Given the description of an element on the screen output the (x, y) to click on. 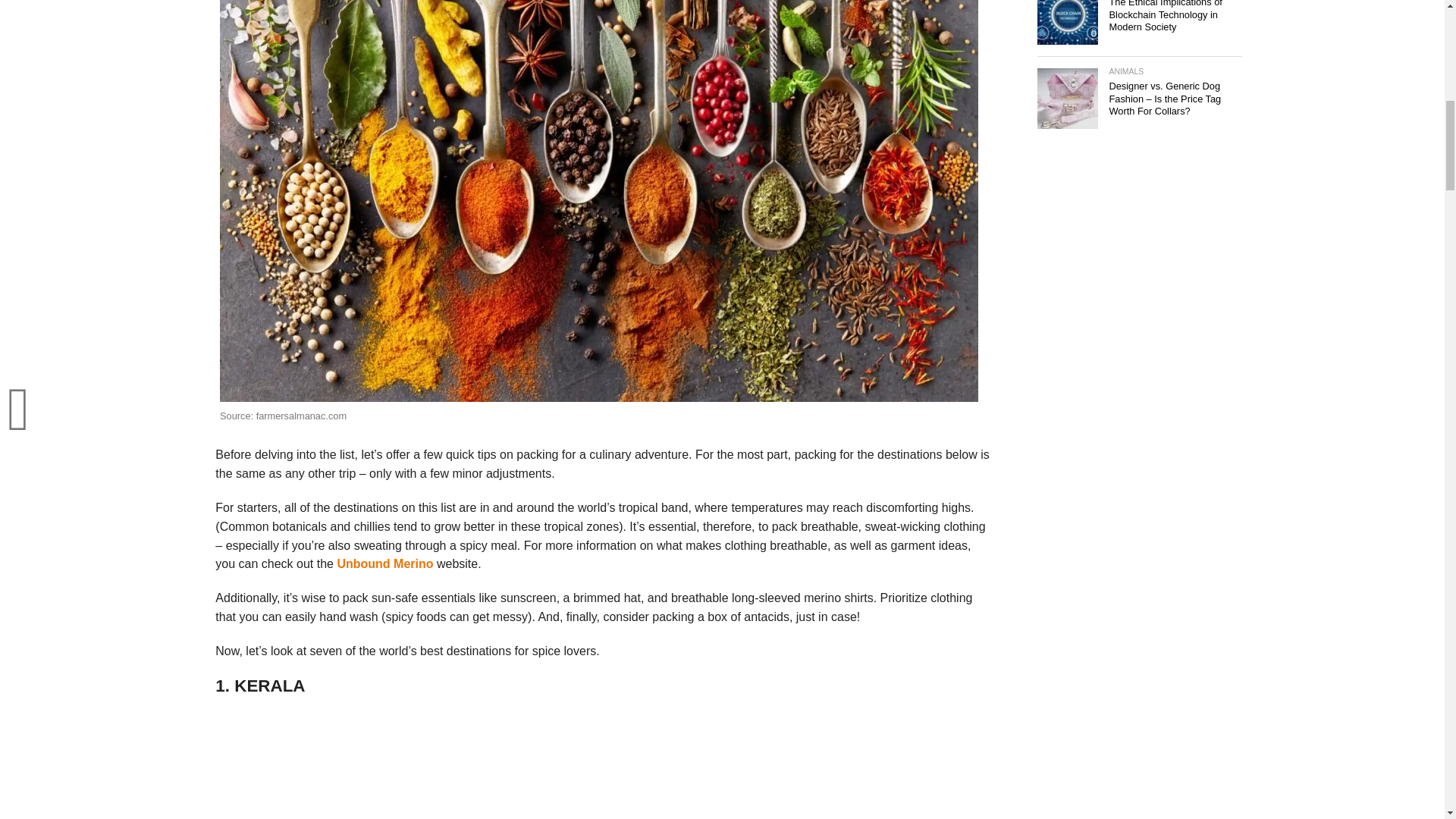
Unbound Merino (384, 563)
